Given the description of an element on the screen output the (x, y) to click on. 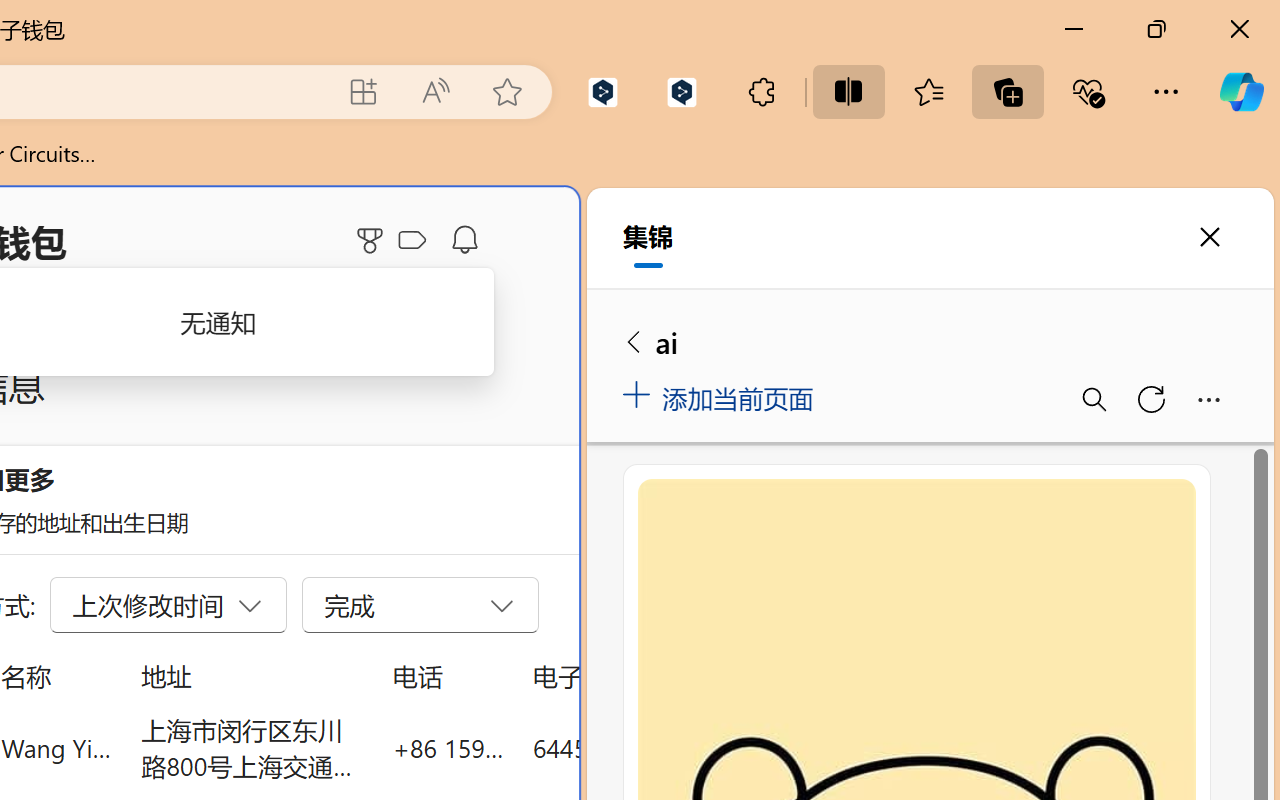
Microsoft Cashback (415, 241)
Class: ___1lmltc5 f1agt3bx f12qytpq (411, 241)
+86 159 0032 4640 (447, 747)
Microsoft Rewards (373, 240)
644553698@qq.com (644, 747)
